Given the description of an element on the screen output the (x, y) to click on. 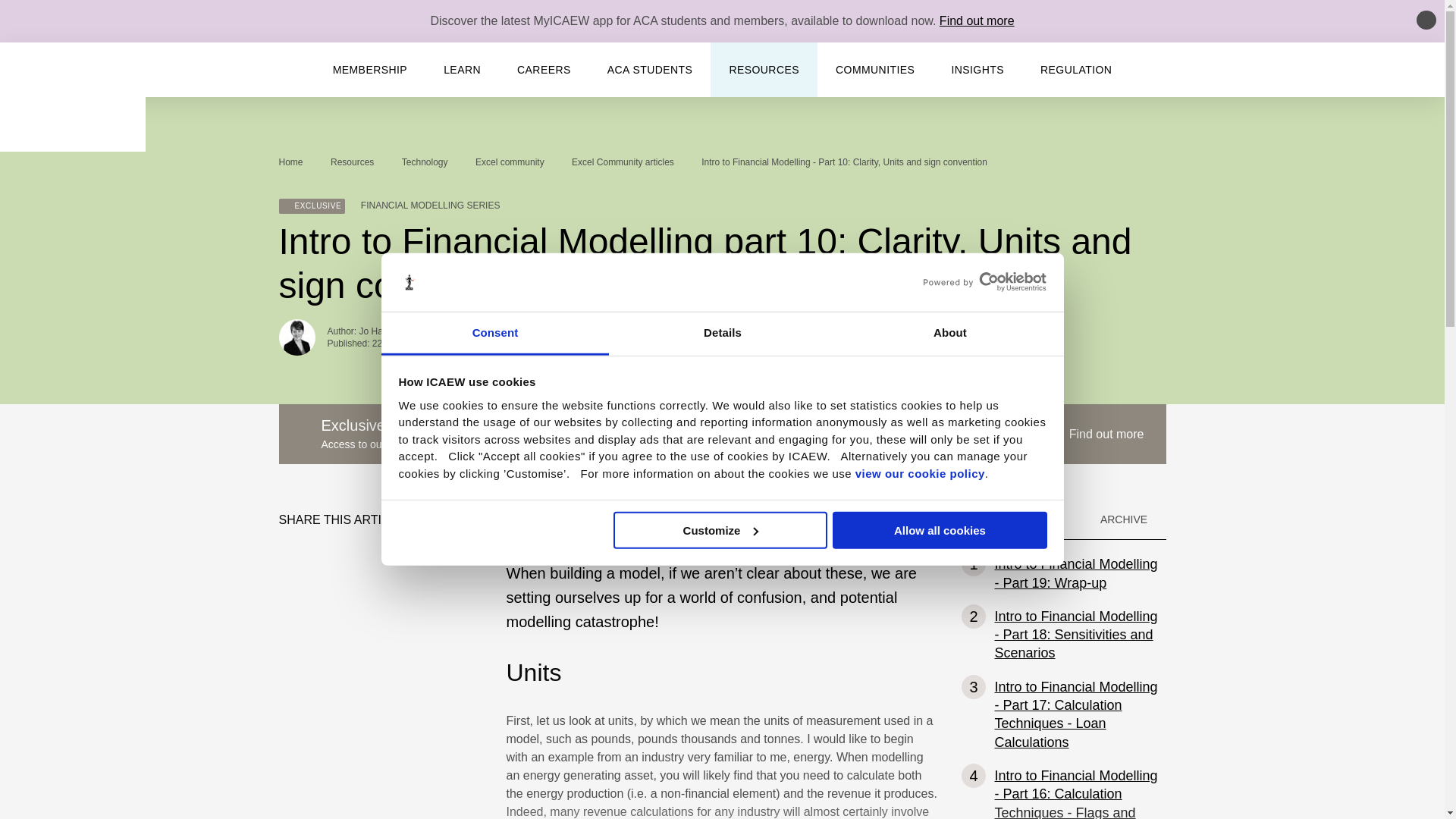
Details (721, 333)
About (948, 333)
Consent (494, 333)
Cookie Policy (919, 472)
view our cookie policy (919, 472)
